Given the description of an element on the screen output the (x, y) to click on. 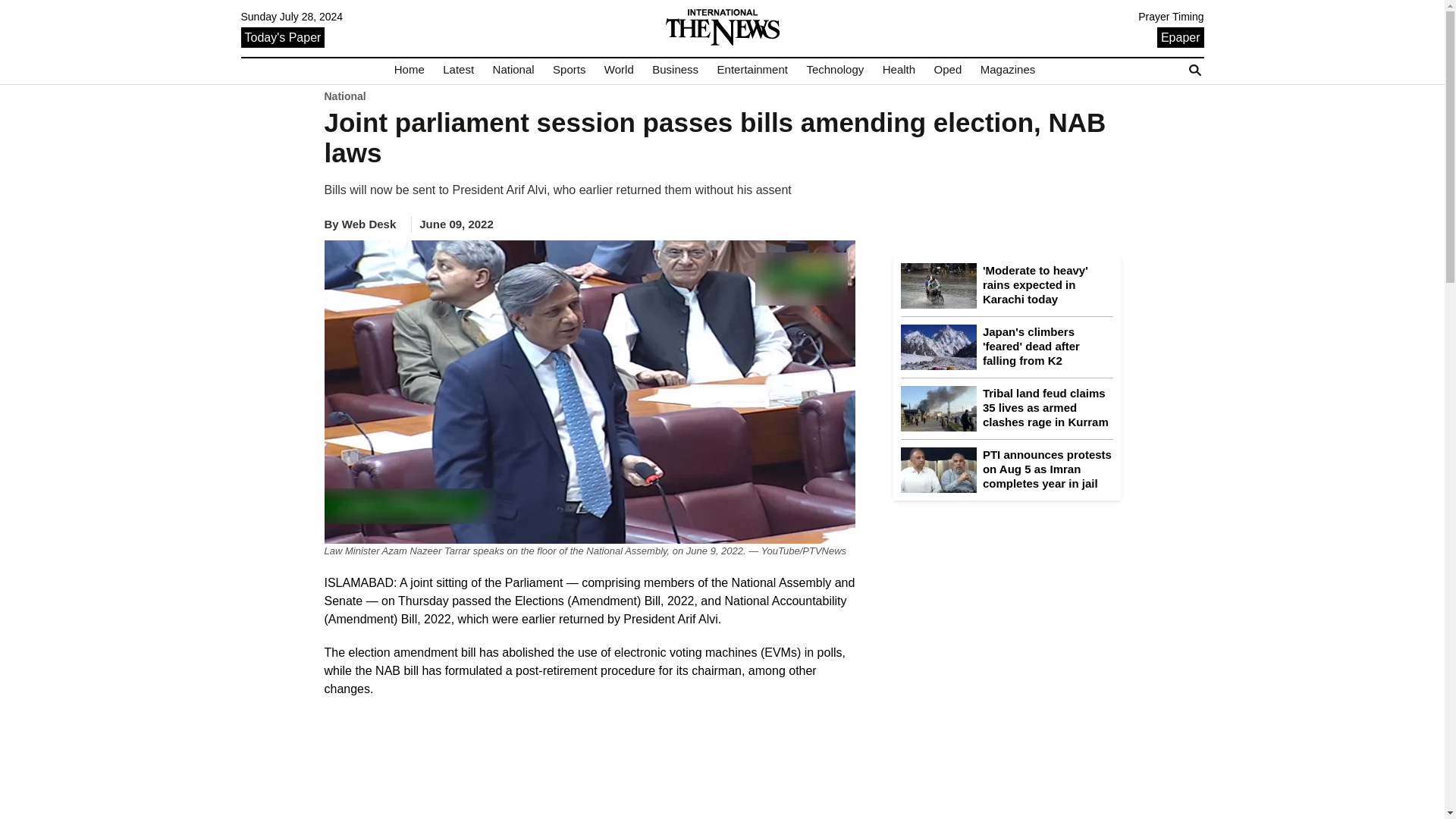
World (619, 69)
Entertainment (752, 69)
National (512, 69)
Today's Paper (282, 37)
Sports (568, 69)
Business (675, 69)
Prayer Timing (1171, 16)
Technology (833, 69)
Health (899, 69)
Home (409, 69)
Epaper (1180, 37)
Latest (458, 69)
